Given the description of an element on the screen output the (x, y) to click on. 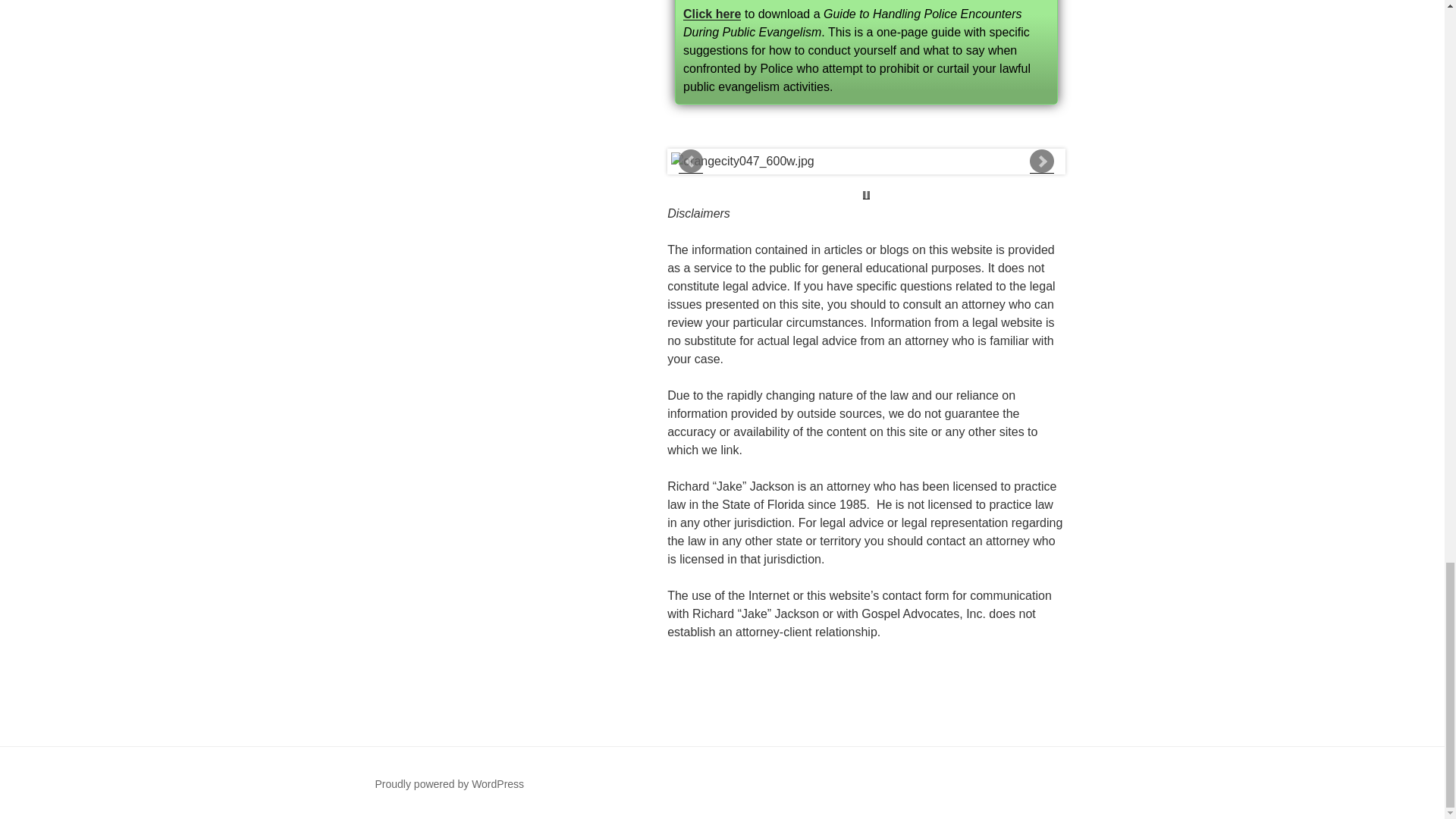
Click here (711, 13)
Stop (866, 194)
Prev (690, 161)
Next (1041, 161)
Proudly powered by WordPress (449, 784)
